Given the description of an element on the screen output the (x, y) to click on. 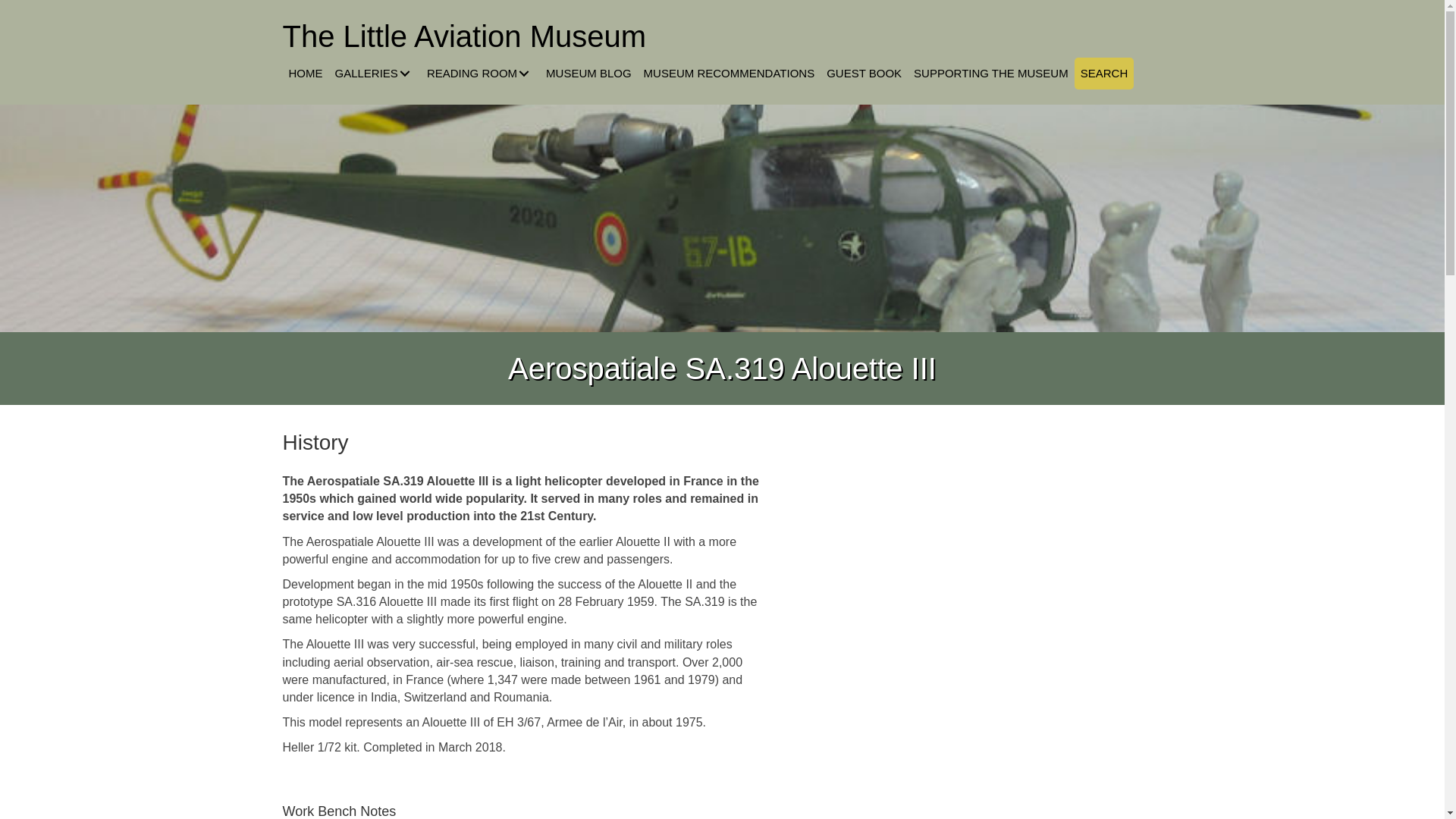
GUEST BOOK (864, 73)
HOME (305, 73)
SEARCH (1104, 73)
The Little Aviation Museum (464, 36)
SUPPORTING THE MUSEUM (990, 73)
MUSEUM RECOMMENDATIONS (729, 73)
The Little Aviation Museum (464, 36)
GALLERIES (374, 73)
MUSEUM BLOG (588, 73)
READING ROOM (480, 73)
